Given the description of an element on the screen output the (x, y) to click on. 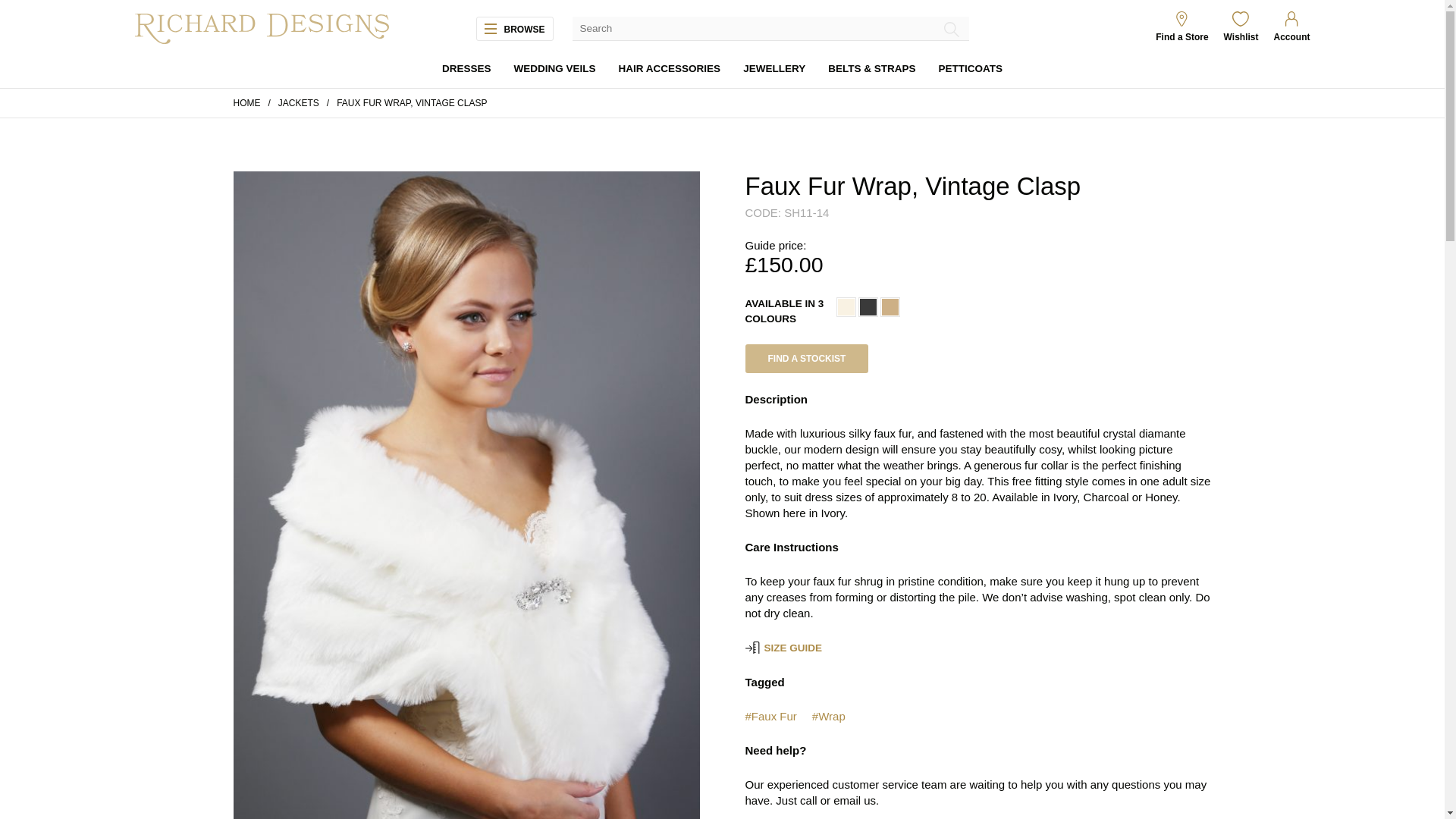
BROWSE (520, 28)
Wishlist (1241, 37)
DRESSES (467, 69)
HOME (246, 102)
Find a Store (1182, 37)
JEWELLERY (773, 69)
FIND A STOCKIST (805, 358)
WEDDING VEILS (554, 69)
HAIR ACCESSORIES (669, 69)
JACKETS (298, 102)
PETTICOATS (970, 69)
SIZE GUIDE (793, 649)
Account (1292, 37)
